Given the description of an element on the screen output the (x, y) to click on. 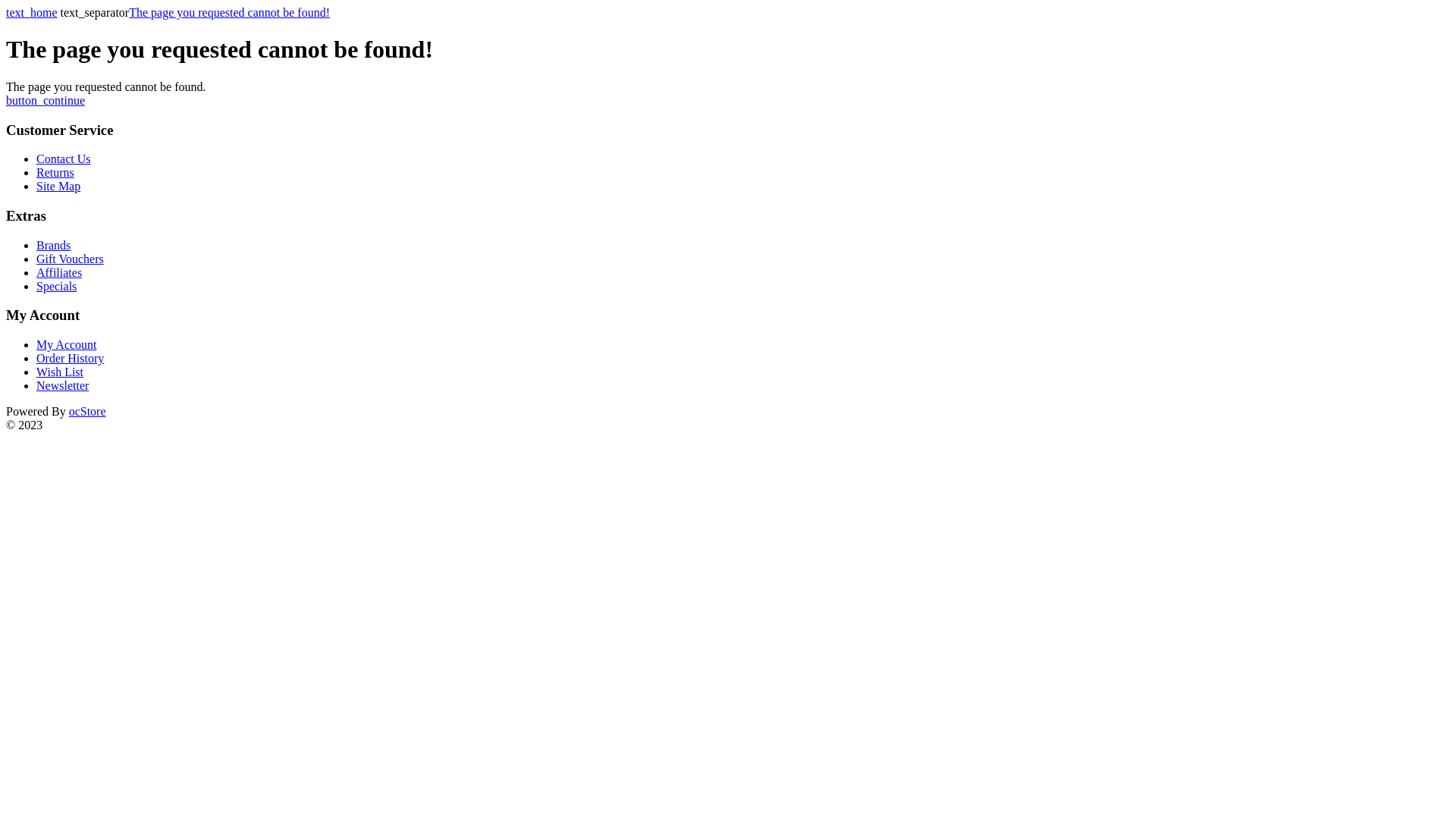
My Account Element type: text (66, 344)
Returns Element type: text (55, 172)
Wish List Element type: text (59, 371)
text_home Element type: text (31, 12)
Contact Us Element type: text (63, 158)
Site Map Element type: text (58, 185)
Gift Vouchers Element type: text (69, 258)
button_continue Element type: text (45, 100)
Order History Element type: text (69, 357)
Brands Element type: text (53, 244)
Newsletter Element type: text (62, 385)
Specials Element type: text (56, 285)
ocStore Element type: text (87, 410)
Affiliates Element type: text (58, 272)
The page you requested cannot be found! Element type: text (228, 12)
